Given the description of an element on the screen output the (x, y) to click on. 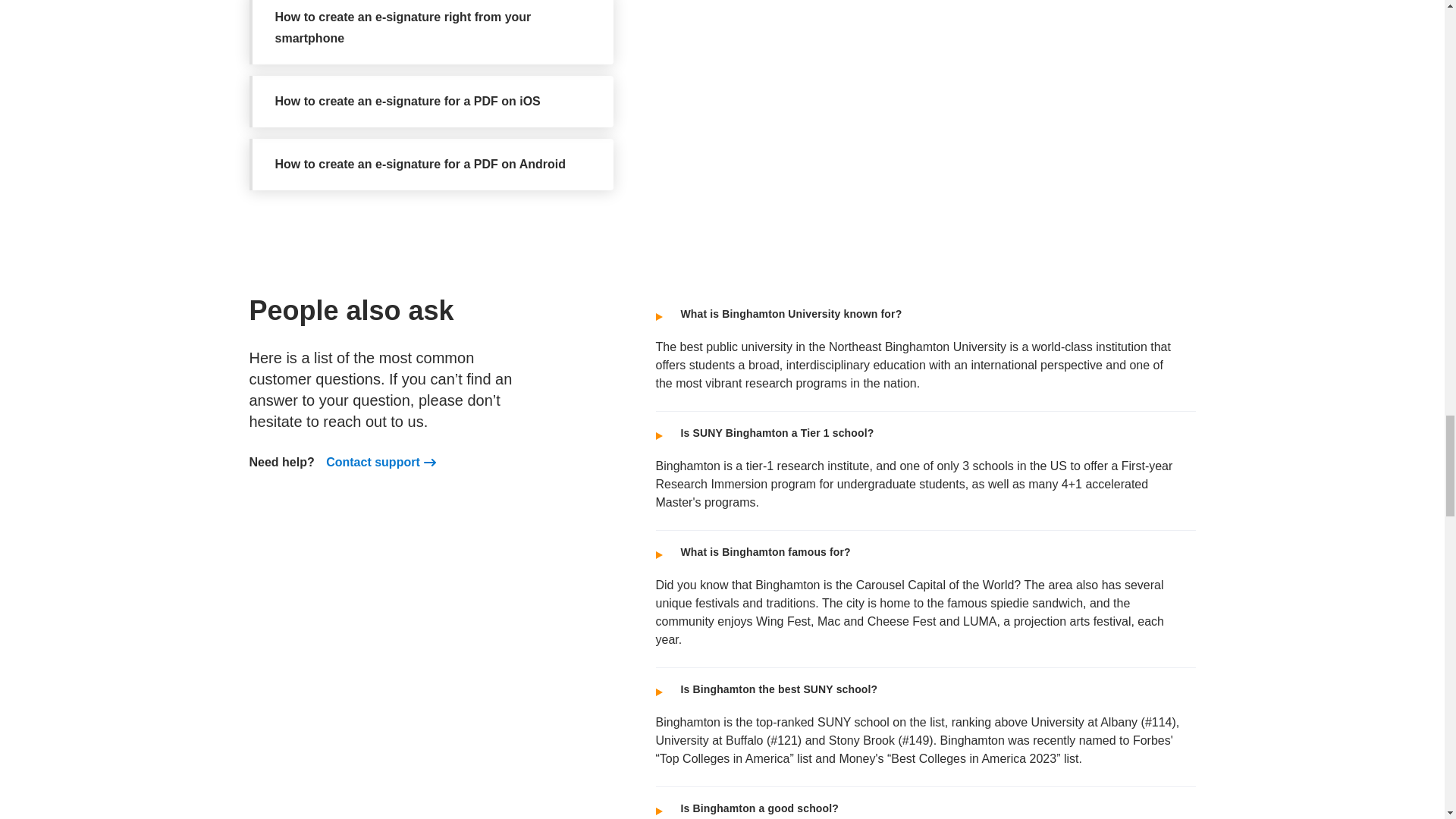
Is Binghamton the best SUNY school? (918, 687)
Contact support (373, 462)
What is Binghamton famous for? (918, 550)
Is Binghamton a good school? (918, 806)
Is SUNY Binghamton a Tier 1 school? (918, 431)
What is Binghamton University known for? (918, 311)
